Given the description of an element on the screen output the (x, y) to click on. 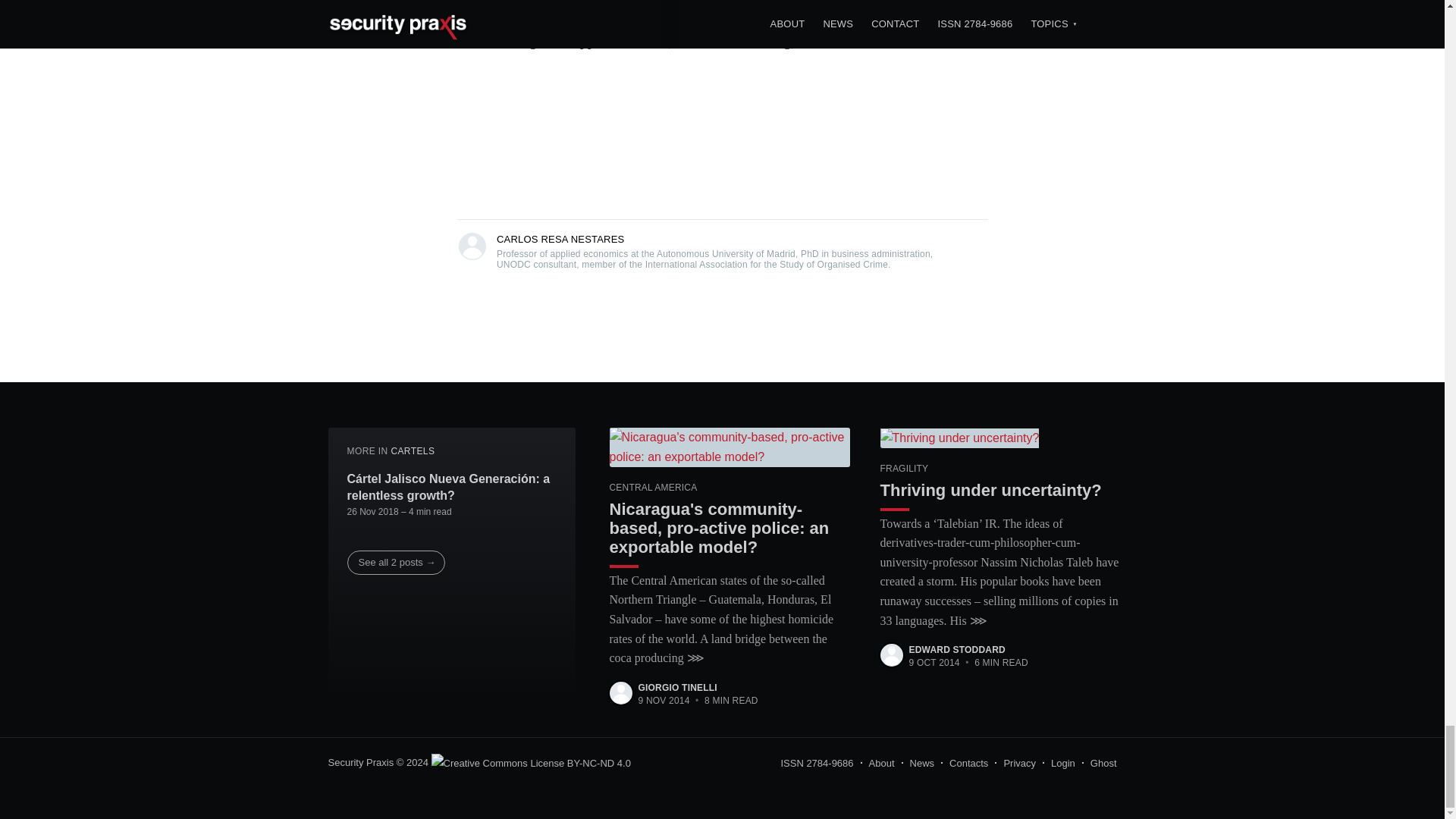
GIORGIO TINELLI (678, 687)
CARTELS (411, 450)
